Given the description of an element on the screen output the (x, y) to click on. 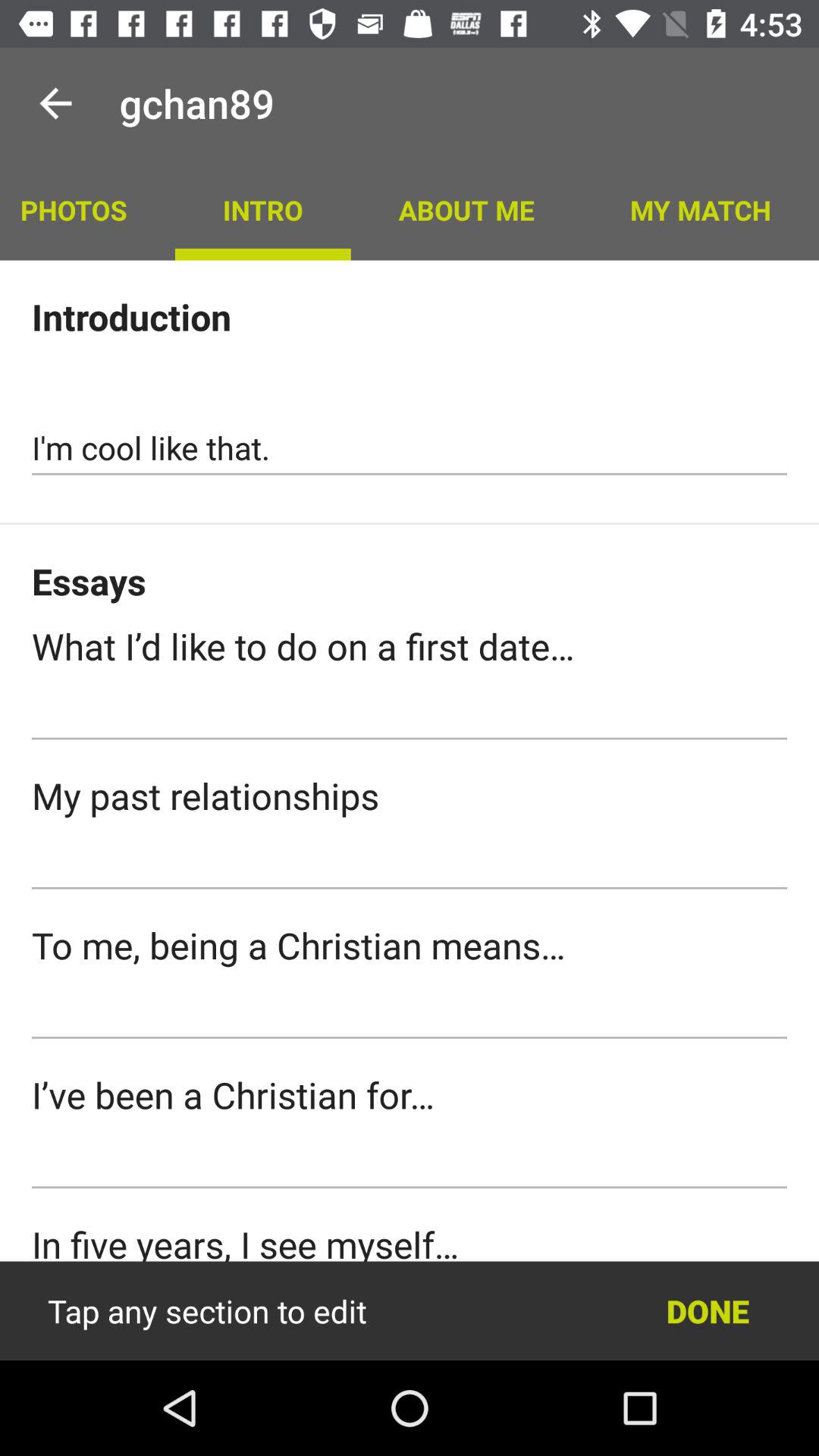
past relationships field (409, 862)
